Given the description of an element on the screen output the (x, y) to click on. 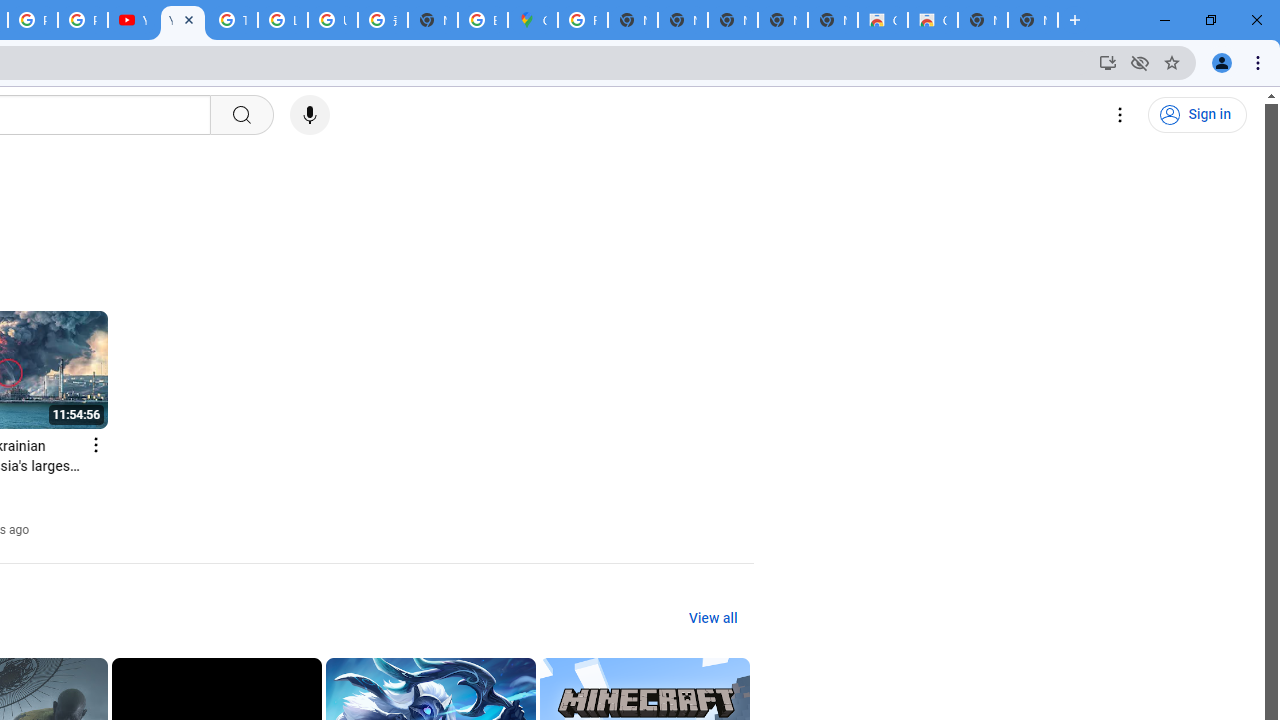
Explore new street-level details - Google Maps Help (483, 20)
Privacy Checkup (82, 20)
Google Maps (533, 20)
Action menu (95, 444)
New Tab (433, 20)
Classic Blue - Chrome Web Store (882, 20)
